Given the description of an element on the screen output the (x, y) to click on. 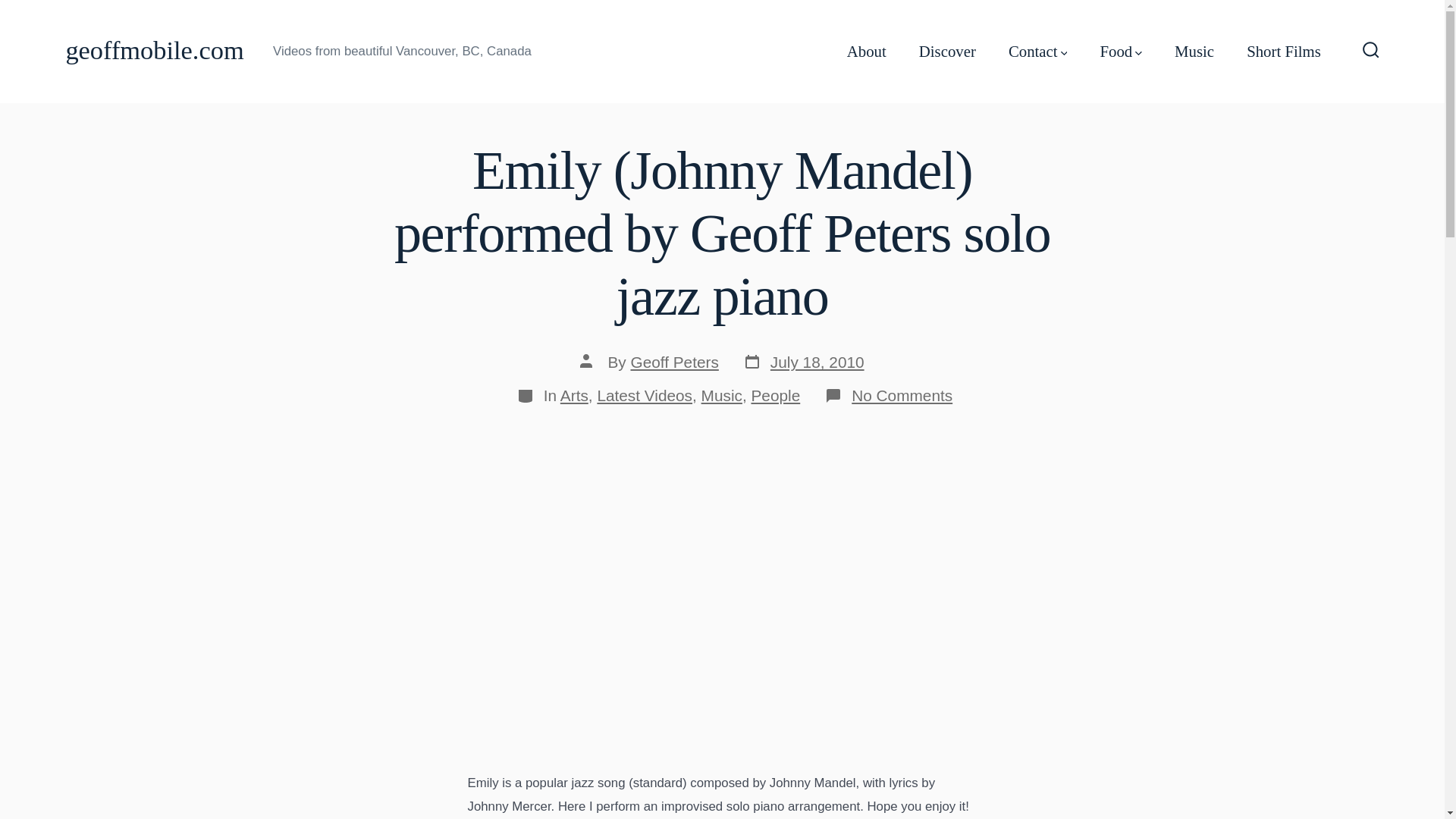
Contact (1038, 51)
Short Films (1283, 51)
Search Toggle (803, 362)
Latest Videos (1371, 50)
Geoff Peters (644, 395)
Music (673, 361)
Food (1194, 51)
Discover (1120, 51)
People (946, 51)
About (775, 395)
geoffmobile.com (866, 51)
Music (154, 51)
Arts (721, 395)
